Given the description of an element on the screen output the (x, y) to click on. 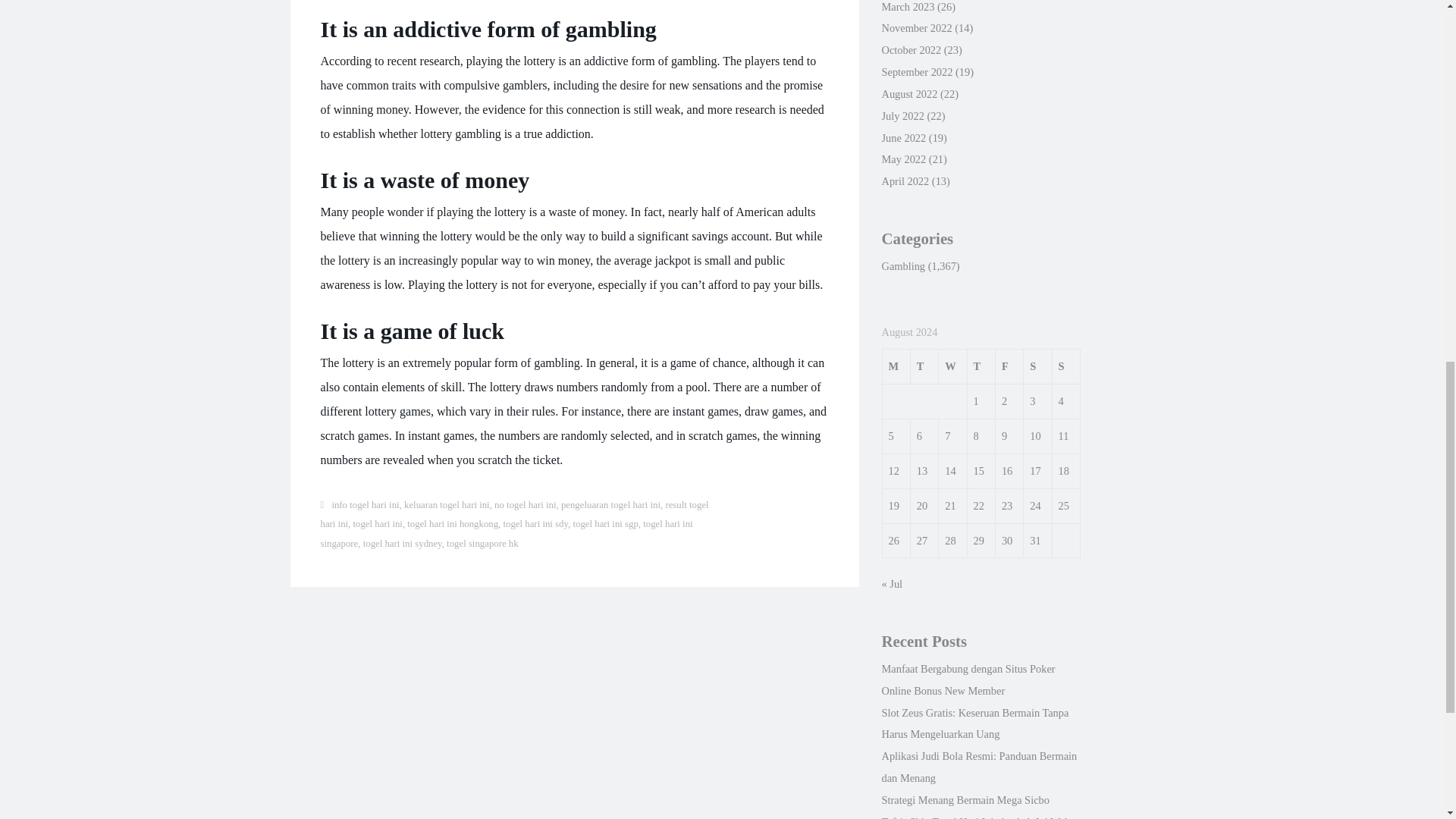
keluaran togel hari ini (446, 504)
togel hari ini singapore (506, 533)
togel hari ini sgp (604, 523)
togel hari ini sdy (536, 523)
togel hari ini hongkong (452, 523)
result togel hari ini (513, 514)
togel hari ini (378, 523)
info togel hari ini (364, 504)
no togel hari ini (525, 504)
togel singapore hk (482, 543)
pengeluaran togel hari ini (610, 504)
togel hari ini sydney (402, 543)
